Given the description of an element on the screen output the (x, y) to click on. 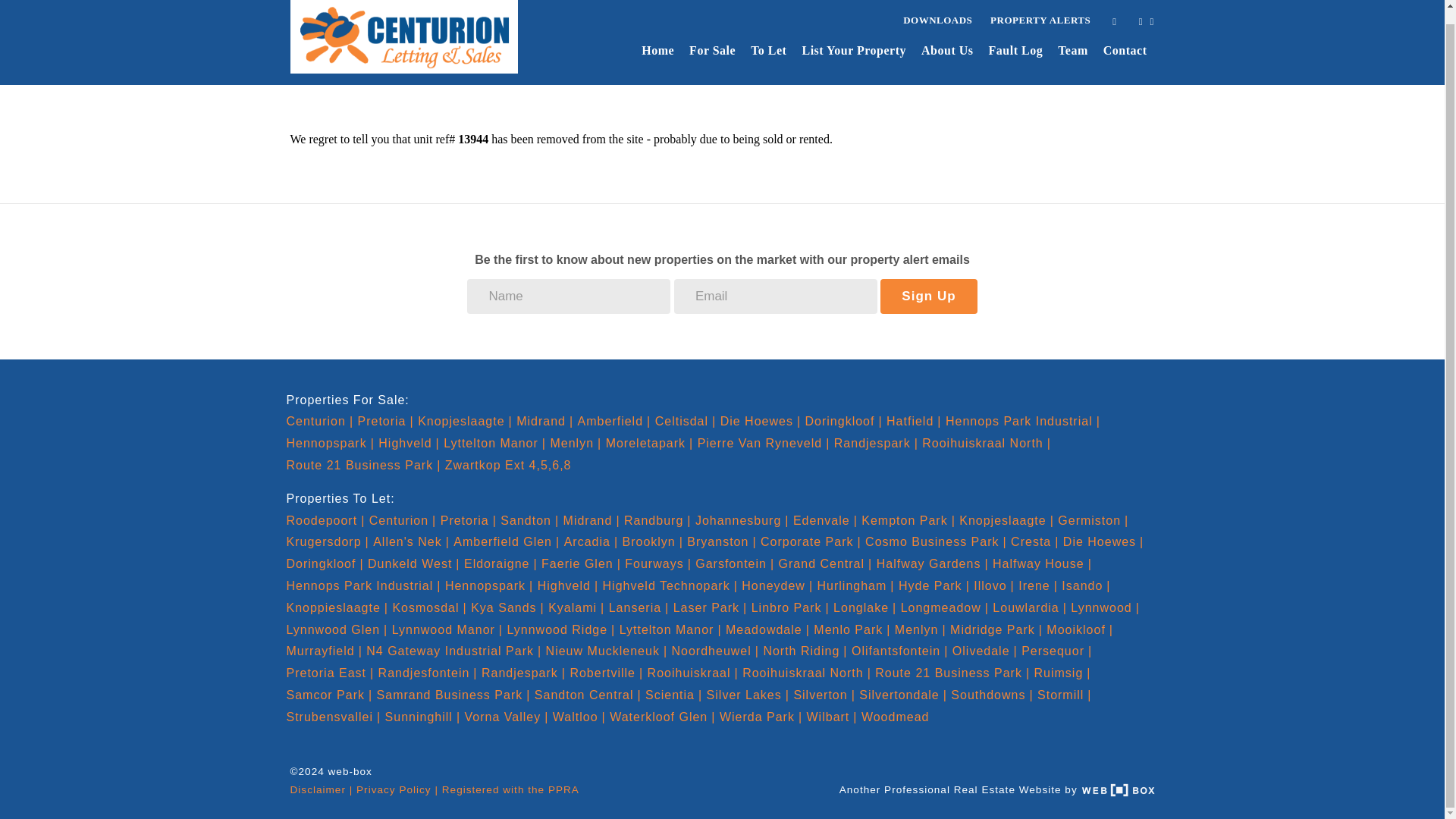
Properties for sale in Randjespark, Midrand (876, 442)
Properties for sale in Moreletapark, Pretoria (649, 442)
Properties for sale in Highveld, Centurion (408, 442)
Properties for sale in Pierre Van Ryneveld, Centurion (763, 442)
Properties for sale in Pretoria (384, 420)
Properties for sale in Celtisdal, Centurion (685, 420)
Properties for sale in Route 21 Business Park, Centurion (363, 464)
Properties for sale in Menlyn, Pretoria (575, 442)
Contact (1125, 51)
Sign Up (928, 296)
